Given the description of an element on the screen output the (x, y) to click on. 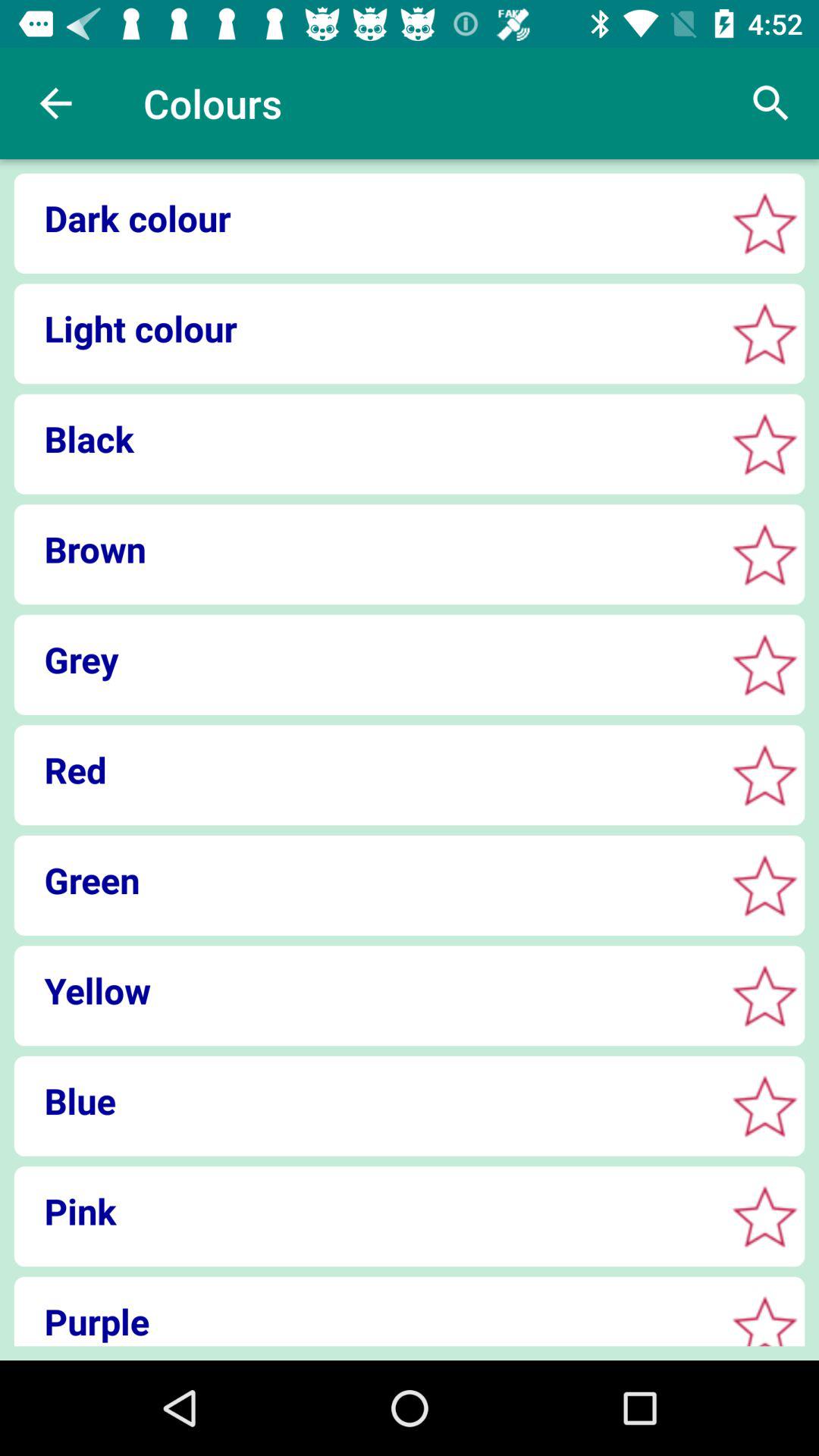
select option (764, 885)
